Given the description of an element on the screen output the (x, y) to click on. 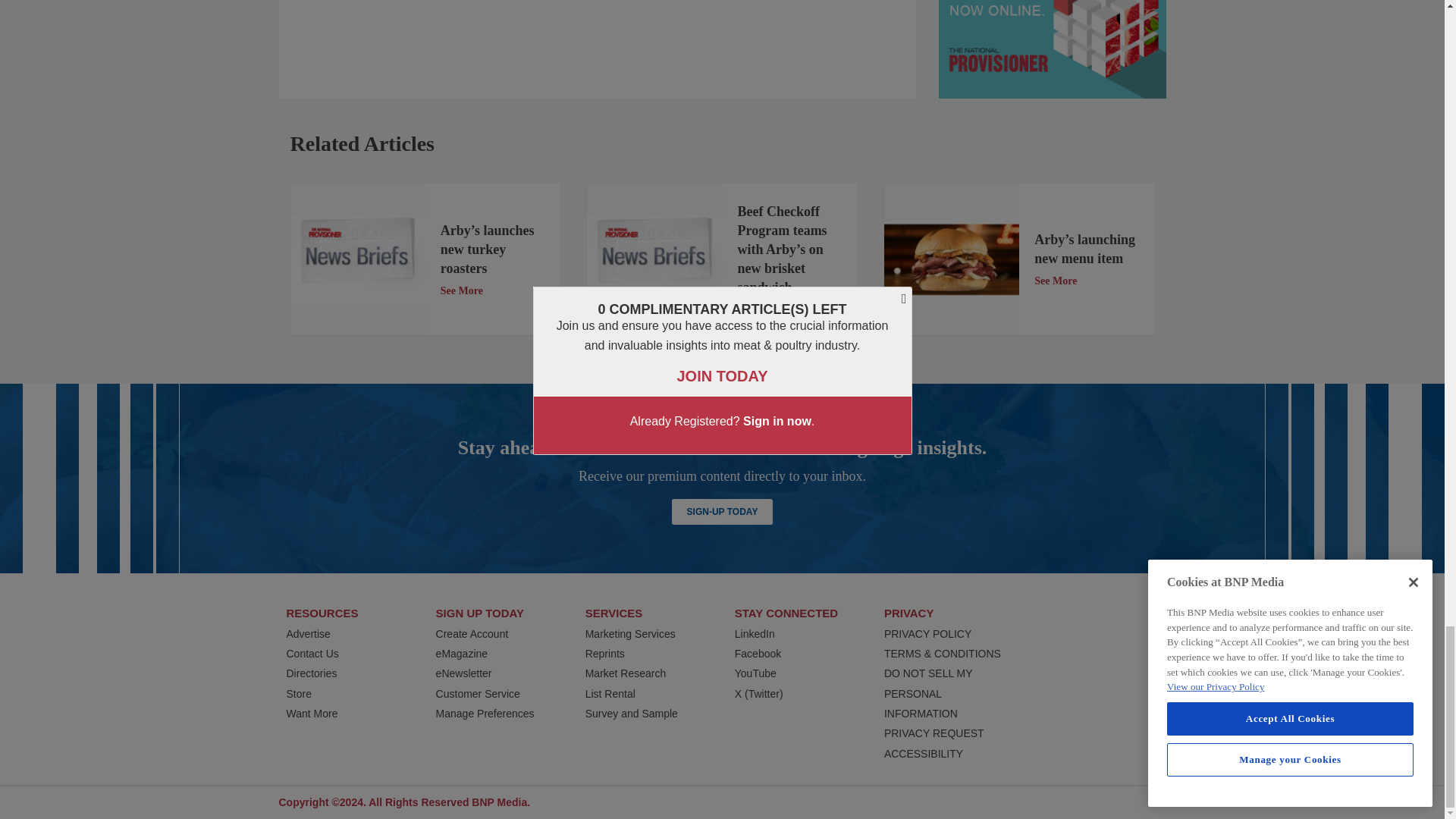
News Brief Feature (654, 259)
News Brief Feature (357, 259)
